Given the description of an element on the screen output the (x, y) to click on. 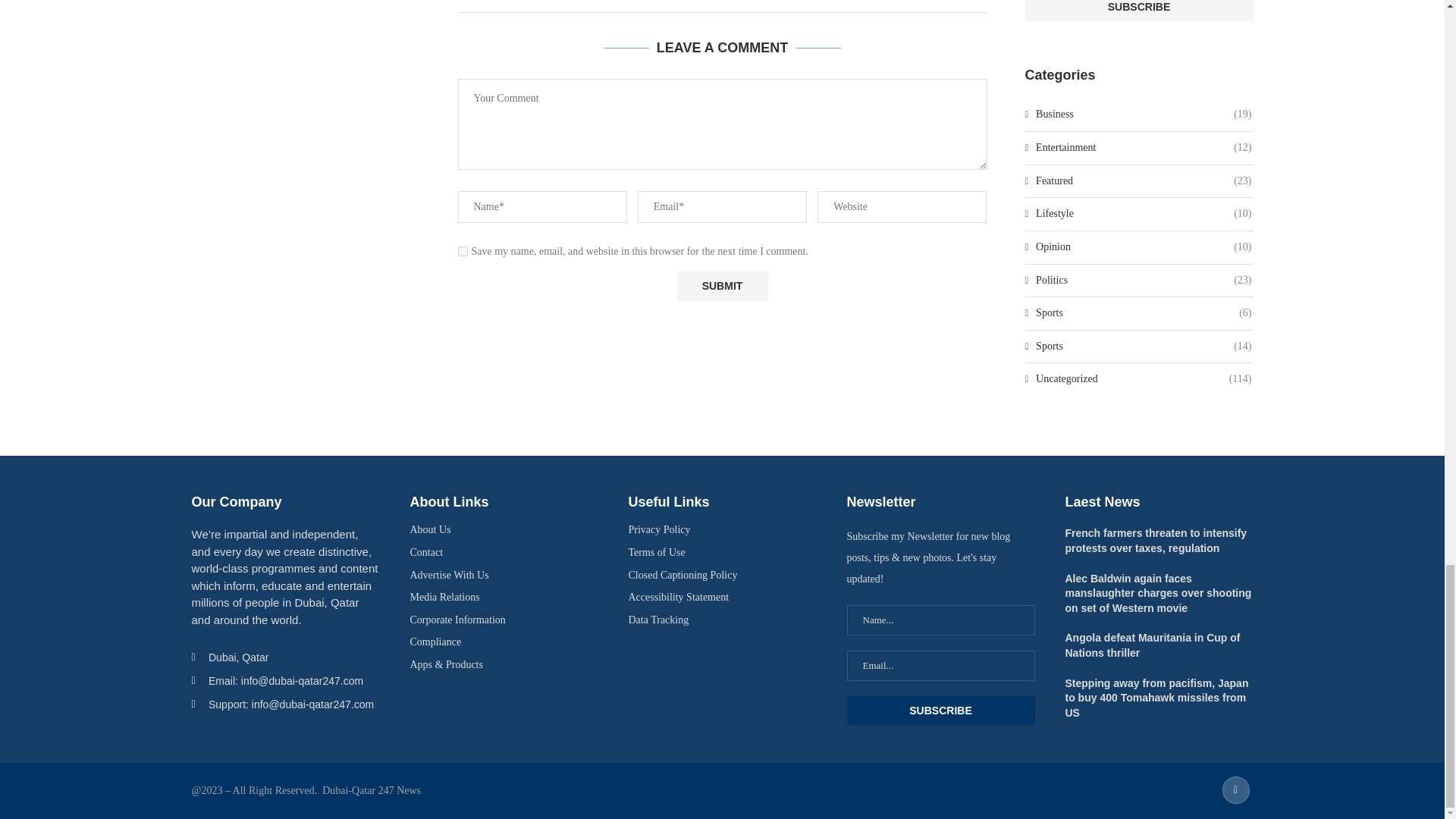
Subscribe (1139, 10)
Subscribe (939, 710)
Submit (722, 286)
yes (462, 251)
